Given the description of an element on the screen output the (x, y) to click on. 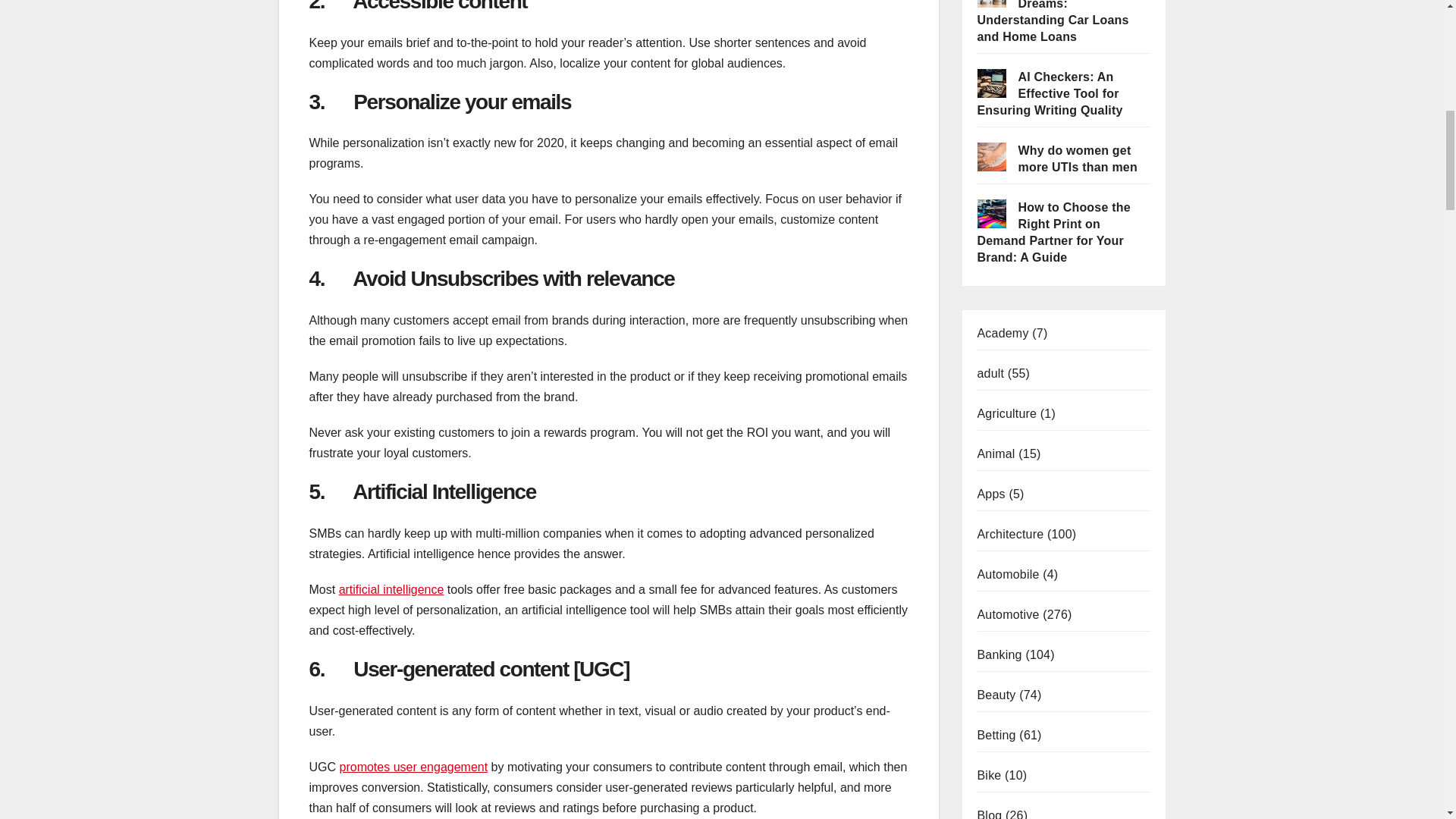
artificial intelligence (391, 589)
promotes user engagement (413, 766)
